Given the description of an element on the screen output the (x, y) to click on. 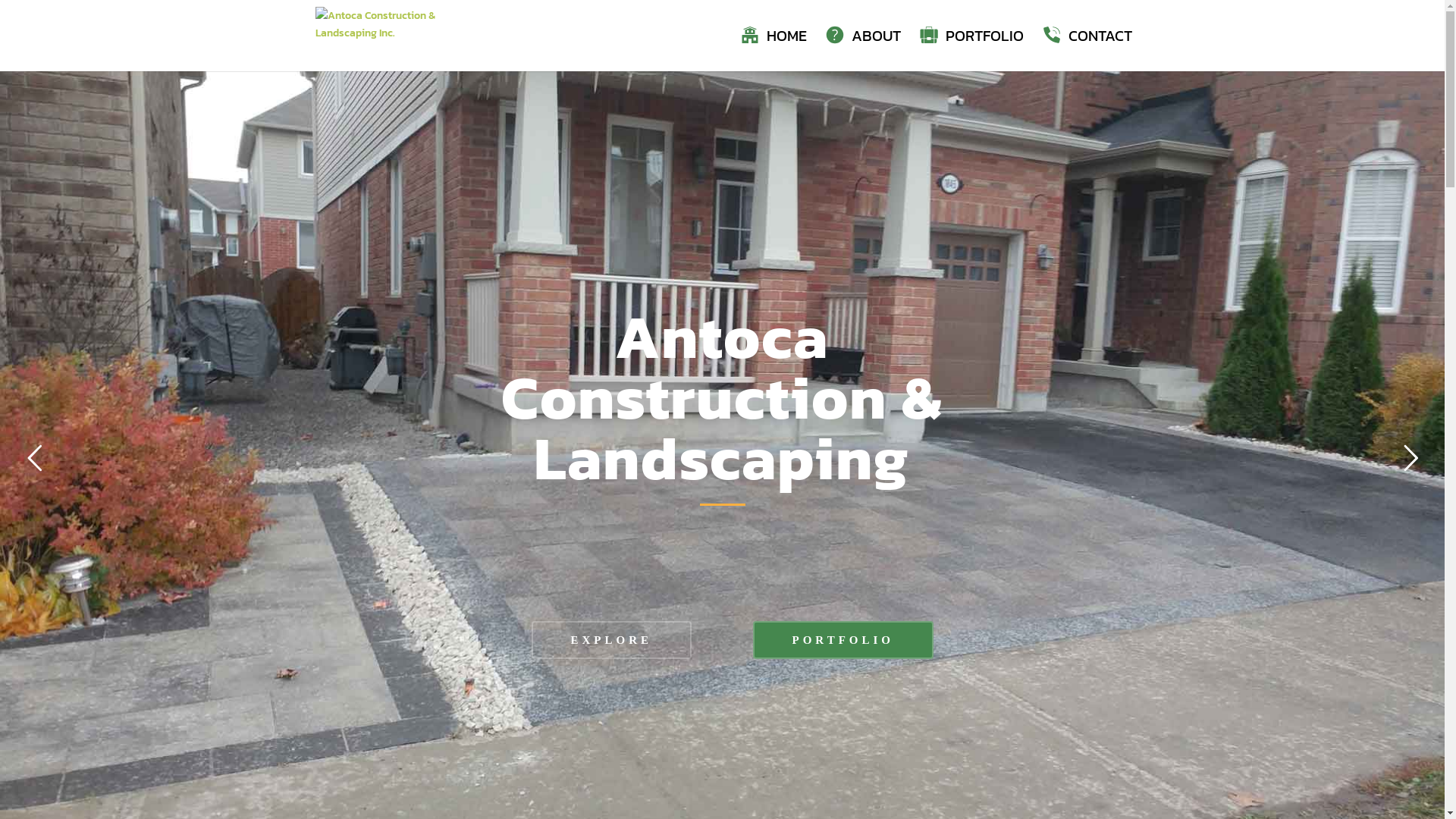
ABOUT Element type: text (862, 50)
HOME Element type: text (773, 50)
PORTFOLIO Element type: text (970, 50)
CONTACT Element type: text (1086, 50)
PORTFOLIO Element type: text (842, 639)
